Given the description of an element on the screen output the (x, y) to click on. 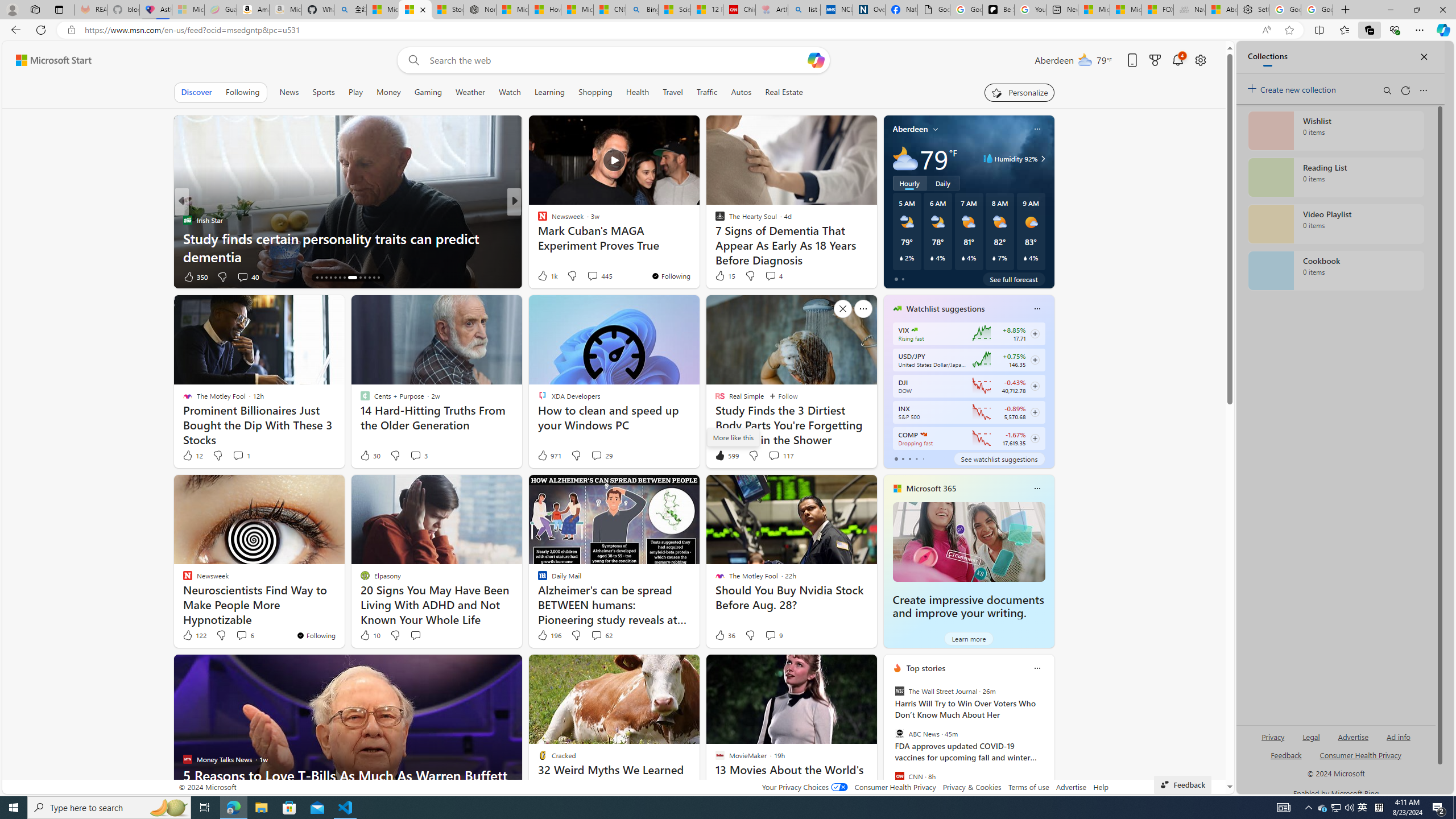
View comments 29 Comment (601, 455)
AutomationID: tab-25 (374, 277)
ABC News (898, 733)
Top stories (925, 668)
View comments 34 Comment (594, 276)
AutomationID: tab-19 (339, 277)
Watchlist suggestions (945, 308)
AutomationID: tab-26 (378, 277)
Daily (942, 183)
